Given the description of an element on the screen output the (x, y) to click on. 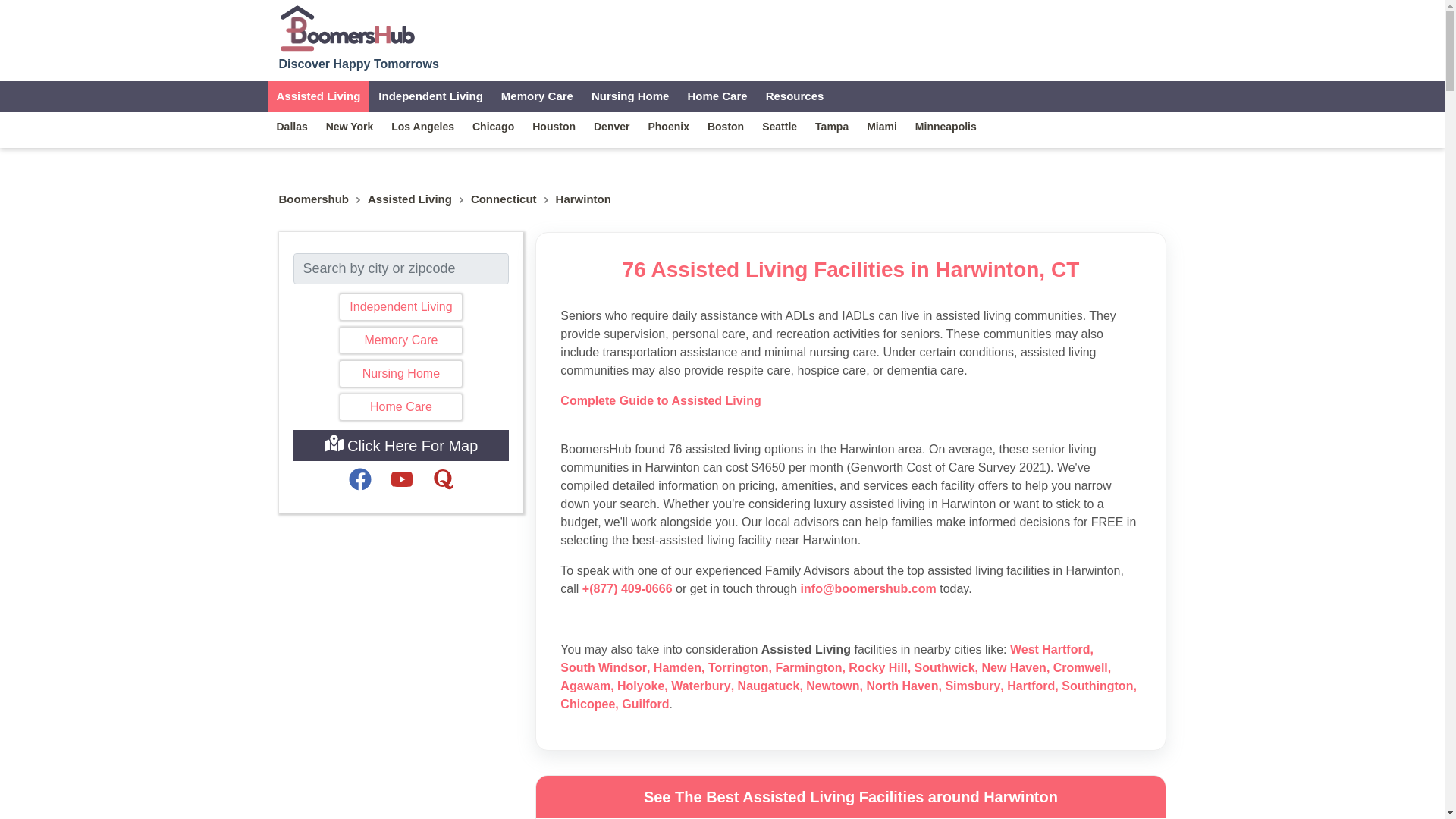
Assisted Living in Seattle, Washington (779, 126)
Nursing Home (400, 373)
Boston (725, 126)
New York (349, 126)
Assisted Living in Houston, Texas (553, 126)
Phoenix (668, 126)
Chicago (492, 126)
Memory Care in Harwinton, Connecticut (537, 96)
Houston (553, 126)
Boomershub (314, 199)
Dallas (290, 126)
Assisted Living in New York, New-york (349, 126)
Discover Happy Tomorrows (359, 36)
Boomershub (314, 199)
Miami (881, 126)
